Given the description of an element on the screen output the (x, y) to click on. 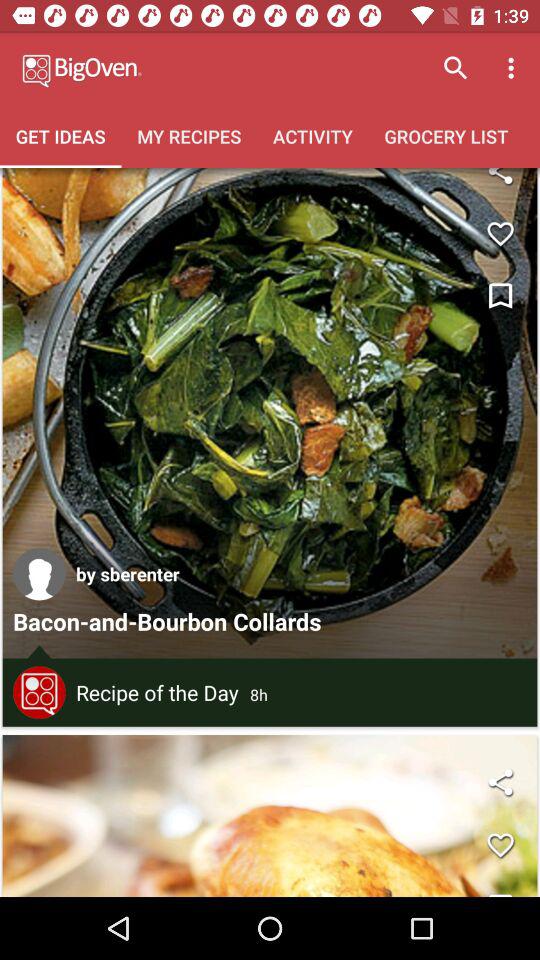
launch the icon above bacon and bourbon icon (39, 573)
